Given the description of an element on the screen output the (x, y) to click on. 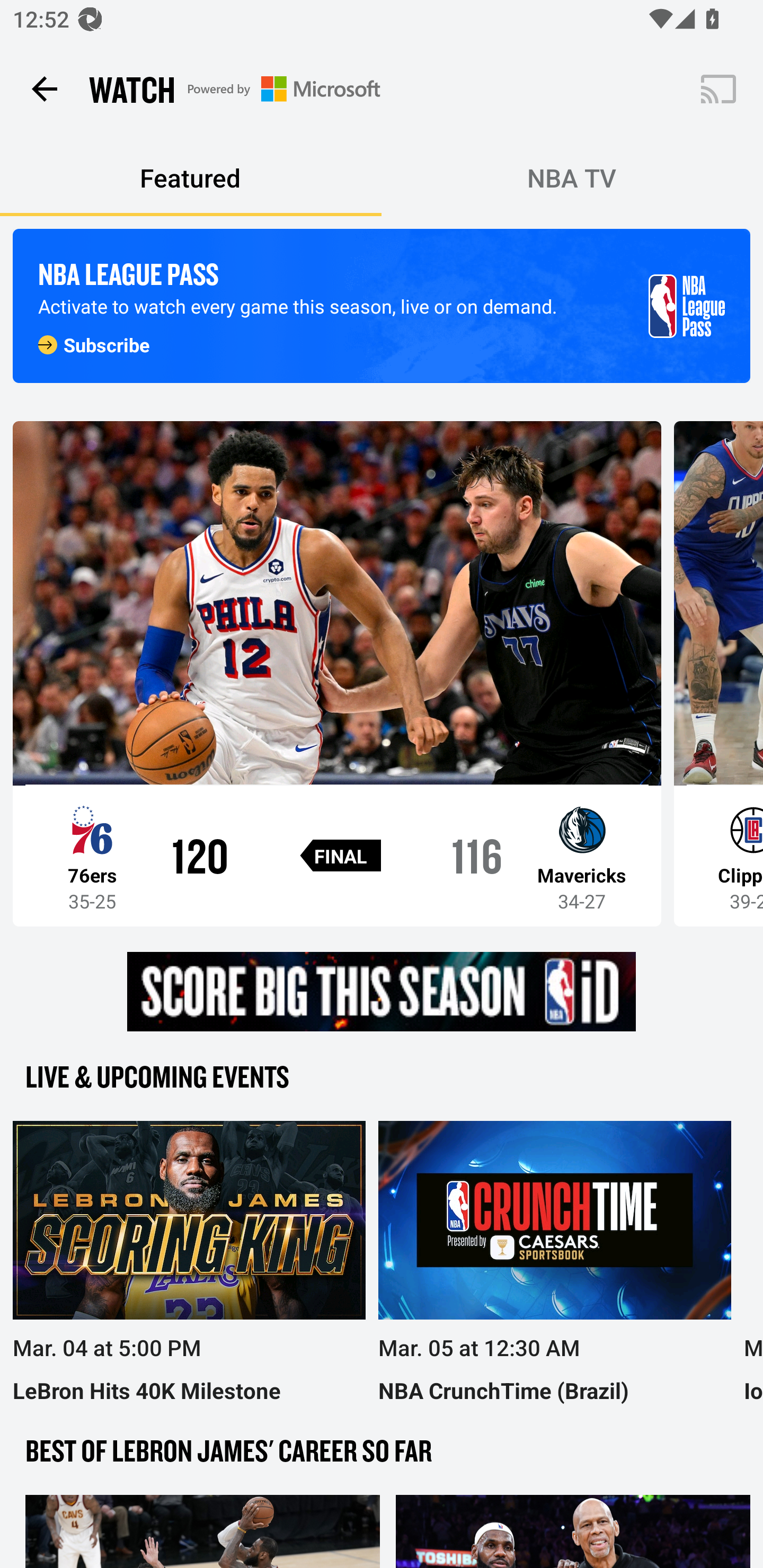
Back button (44, 88)
Cast. Disconnected (718, 88)
NBA TV (572, 177)
LIVE & UPCOMING EVENTS (381, 1076)
Mar. 05 at 12:30 AM NBA CrunchTime (Brazil) (547, 1262)
BEST OF LEBRON JAMES' CAREER SO FAR (381, 1449)
